Given the description of an element on the screen output the (x, y) to click on. 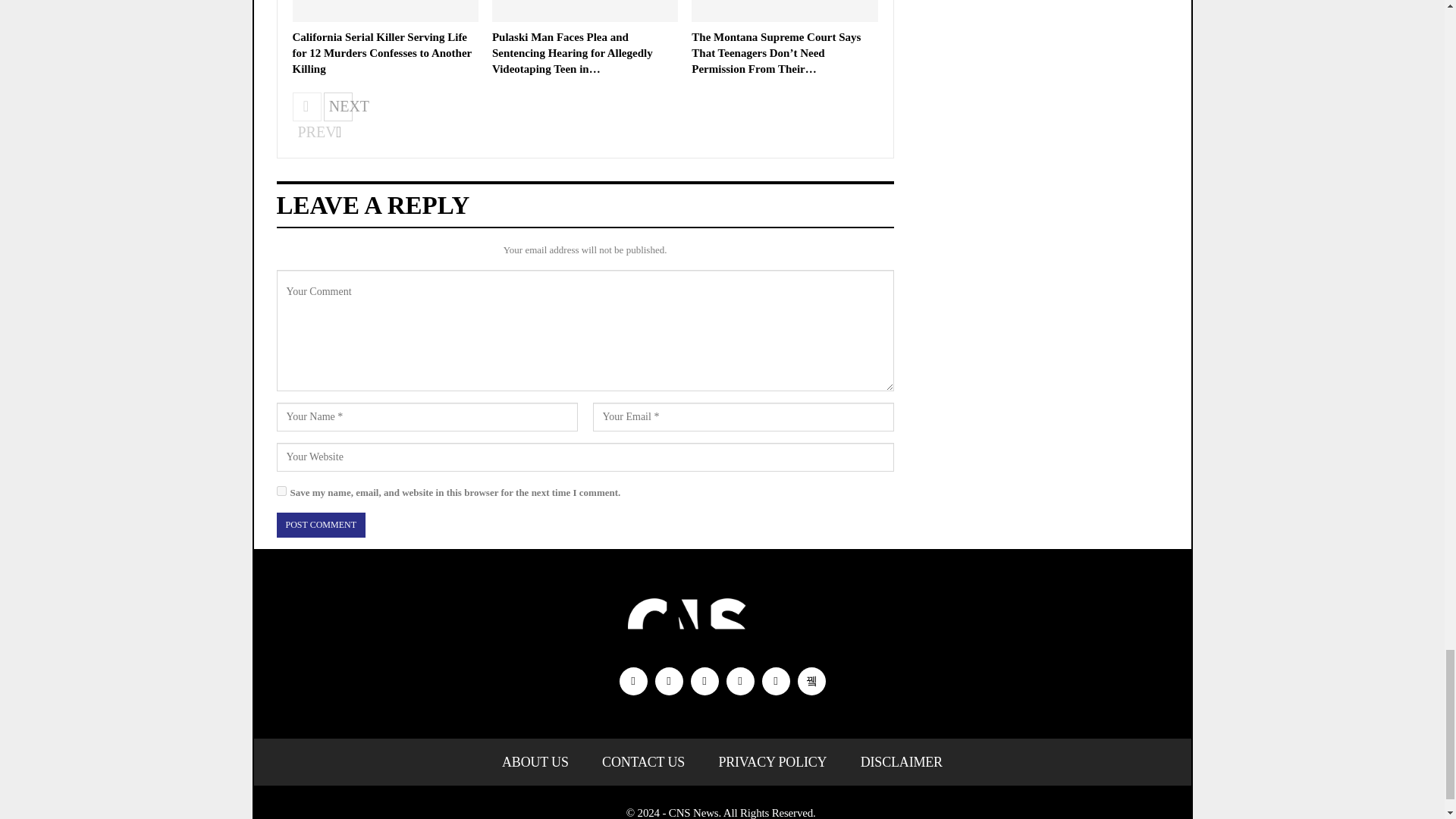
yes (280, 491)
Post Comment (320, 524)
